Given the description of an element on the screen output the (x, y) to click on. 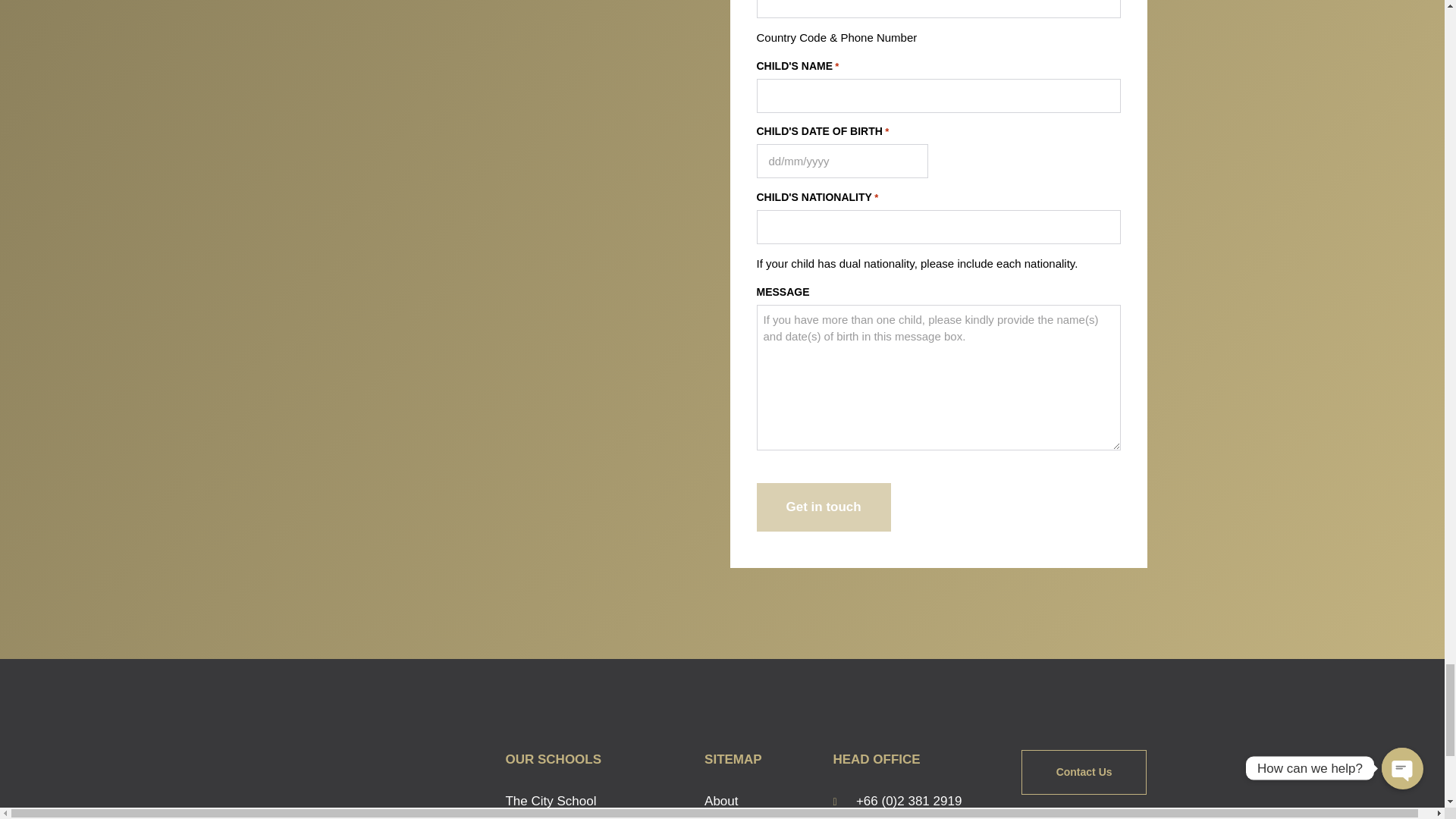
Get in touch (824, 507)
The City School (596, 801)
About (760, 801)
Get in touch (824, 507)
